Given the description of an element on the screen output the (x, y) to click on. 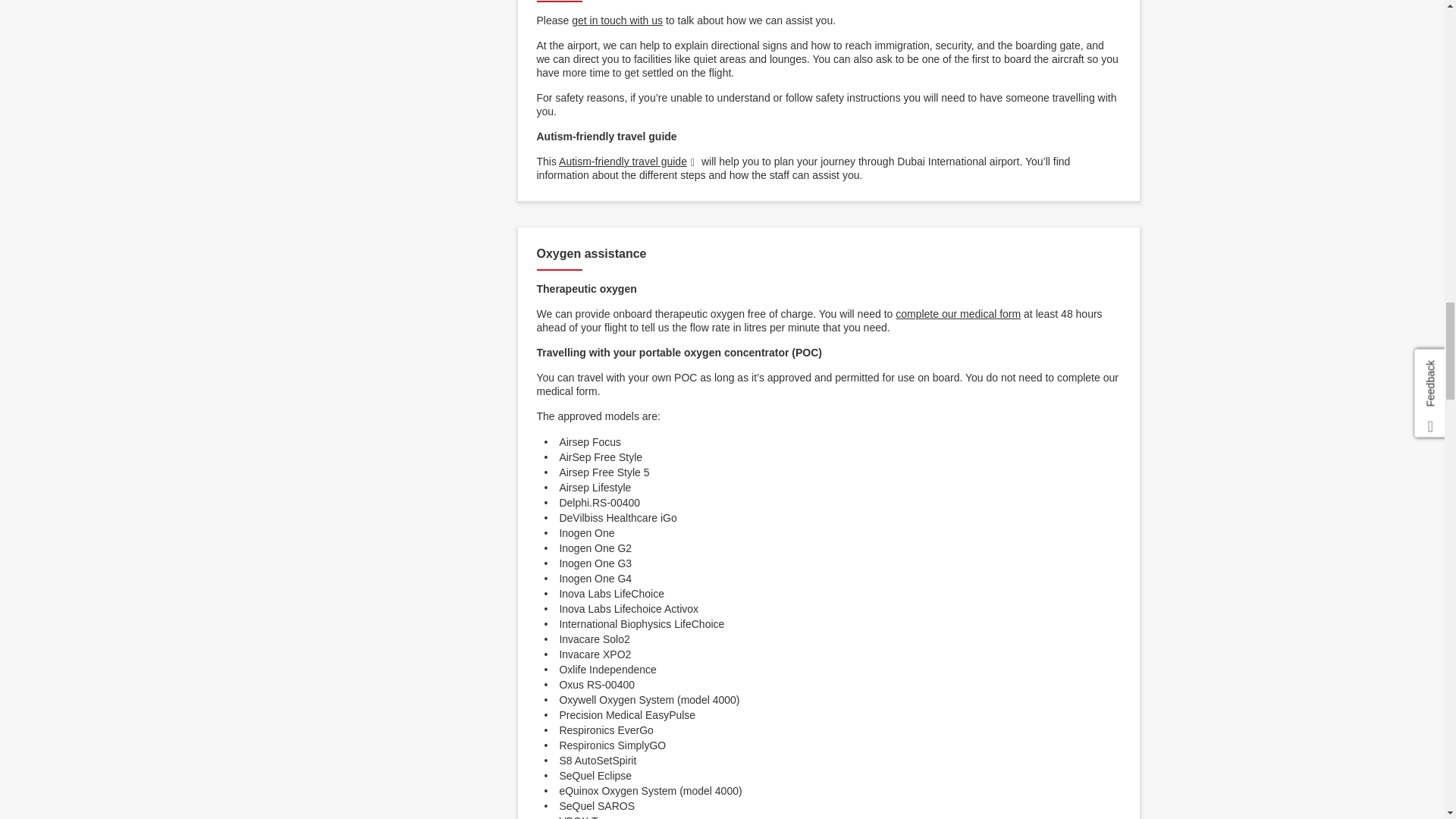
Local Emirates offices (617, 20)
